Given the description of an element on the screen output the (x, y) to click on. 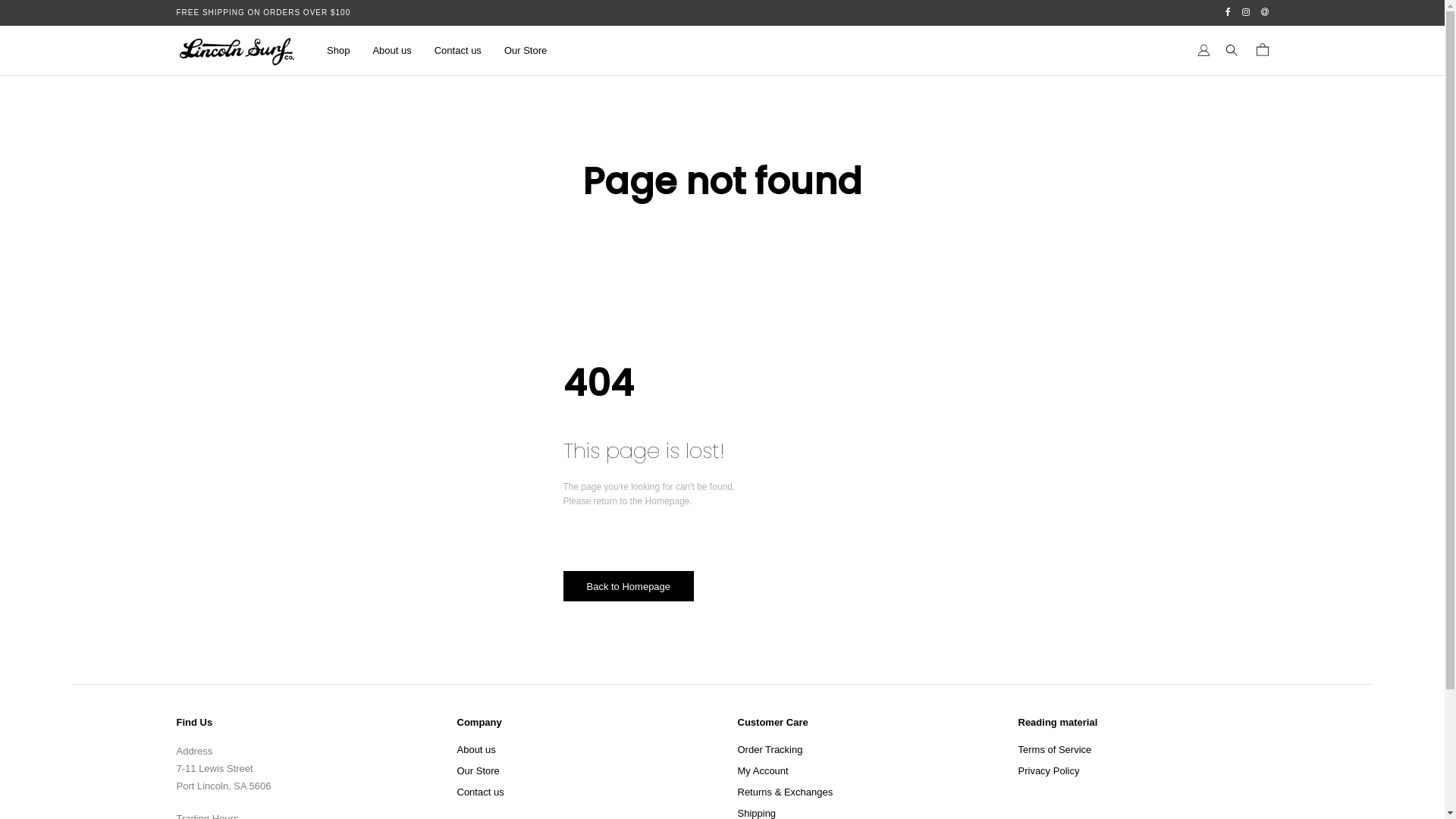
Contact us Element type: text (457, 50)
My Account Element type: text (762, 770)
Order Tracking Element type: text (769, 749)
Terms of Service Element type: text (1054, 749)
Contact us Element type: text (479, 792)
Search Element type: text (39, 15)
Privacy Policy Element type: text (1048, 770)
About us Element type: text (391, 50)
Returns & Exchanges Element type: text (784, 792)
Back to Homepage
Back to Homepage Element type: text (627, 586)
Our Store Element type: text (477, 770)
Our Store Element type: text (525, 50)
About us Element type: text (475, 749)
Shop Element type: text (337, 50)
